Given the description of an element on the screen output the (x, y) to click on. 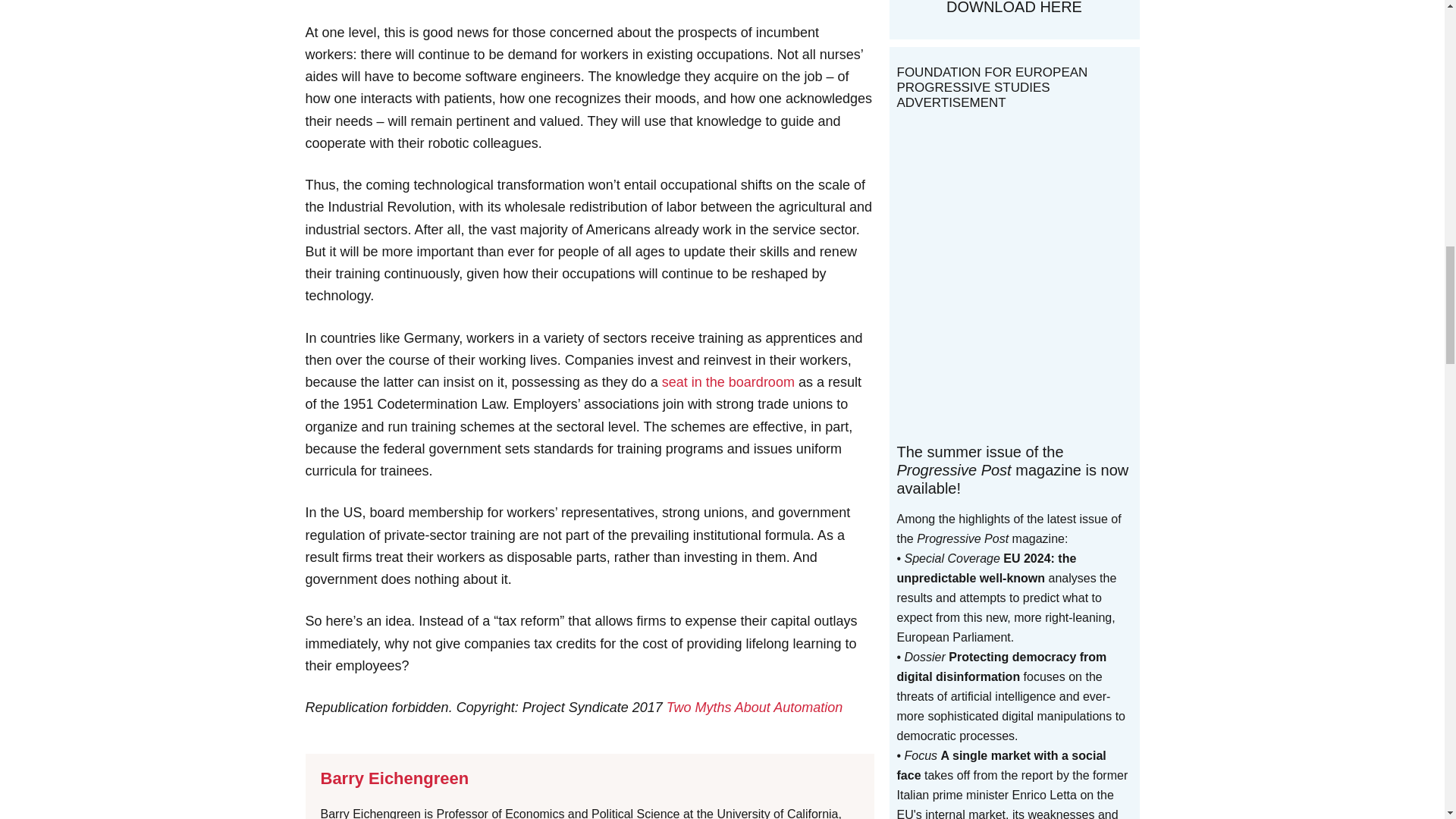
seat in the boardroom (728, 381)
Two Myths About Automation (754, 707)
Barry Eichengreen (394, 778)
